Given the description of an element on the screen output the (x, y) to click on. 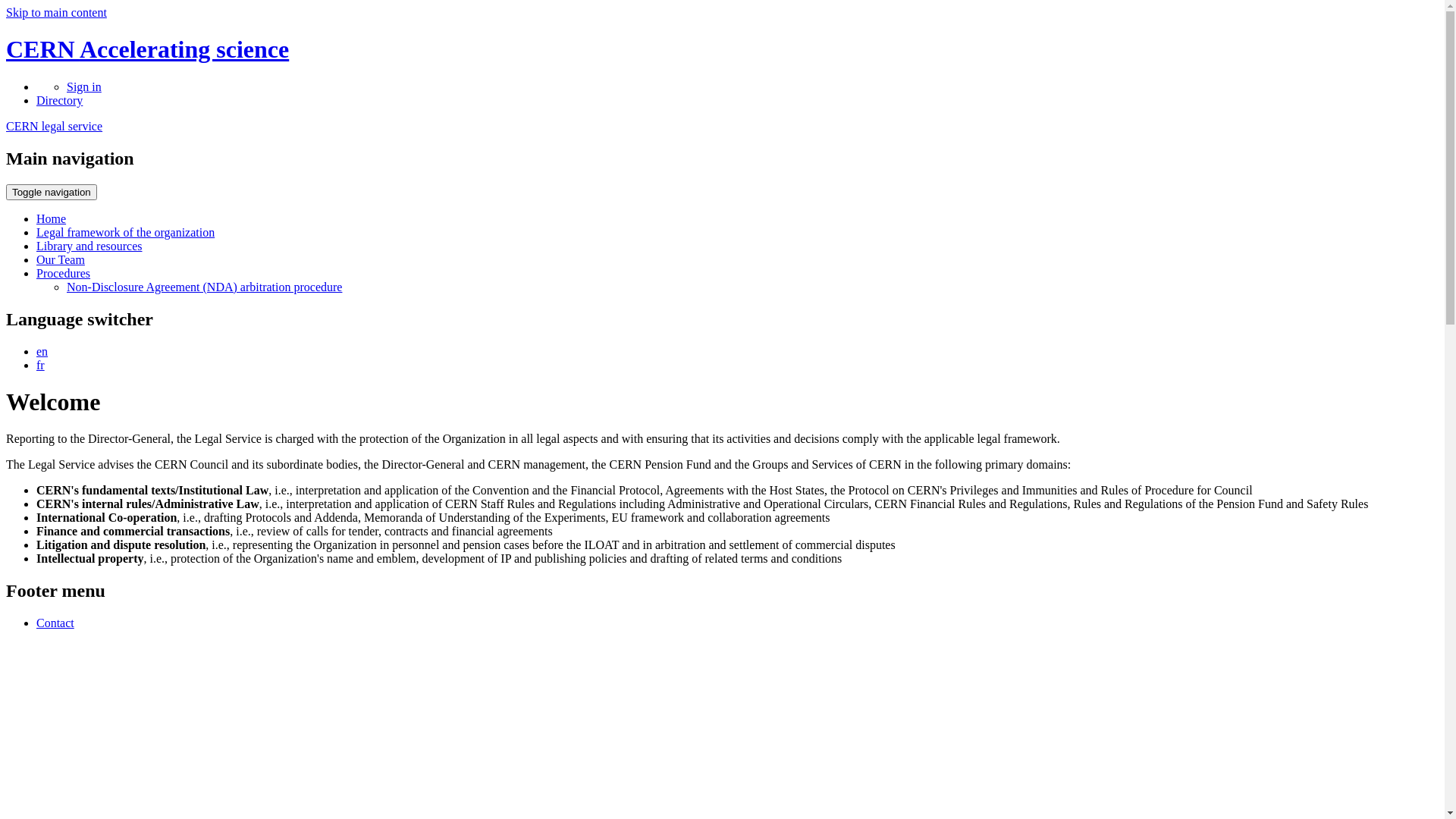
Contact Element type: text (55, 622)
Toggle navigation Element type: text (51, 192)
CERN legal service Element type: text (54, 125)
Sign in Element type: text (83, 86)
Home Element type: text (50, 218)
Directory Element type: text (59, 100)
en Element type: text (41, 350)
Legal framework of the organization Element type: text (125, 231)
CERN Accelerating science Element type: text (147, 48)
fr Element type: text (40, 363)
Library and resources Element type: text (89, 245)
Our Team Element type: text (60, 259)
Procedures Element type: text (63, 272)
Skip to main content Element type: text (56, 12)
Non-Disclosure Agreement (NDA) arbitration procedure Element type: text (204, 286)
